Given the description of an element on the screen output the (x, y) to click on. 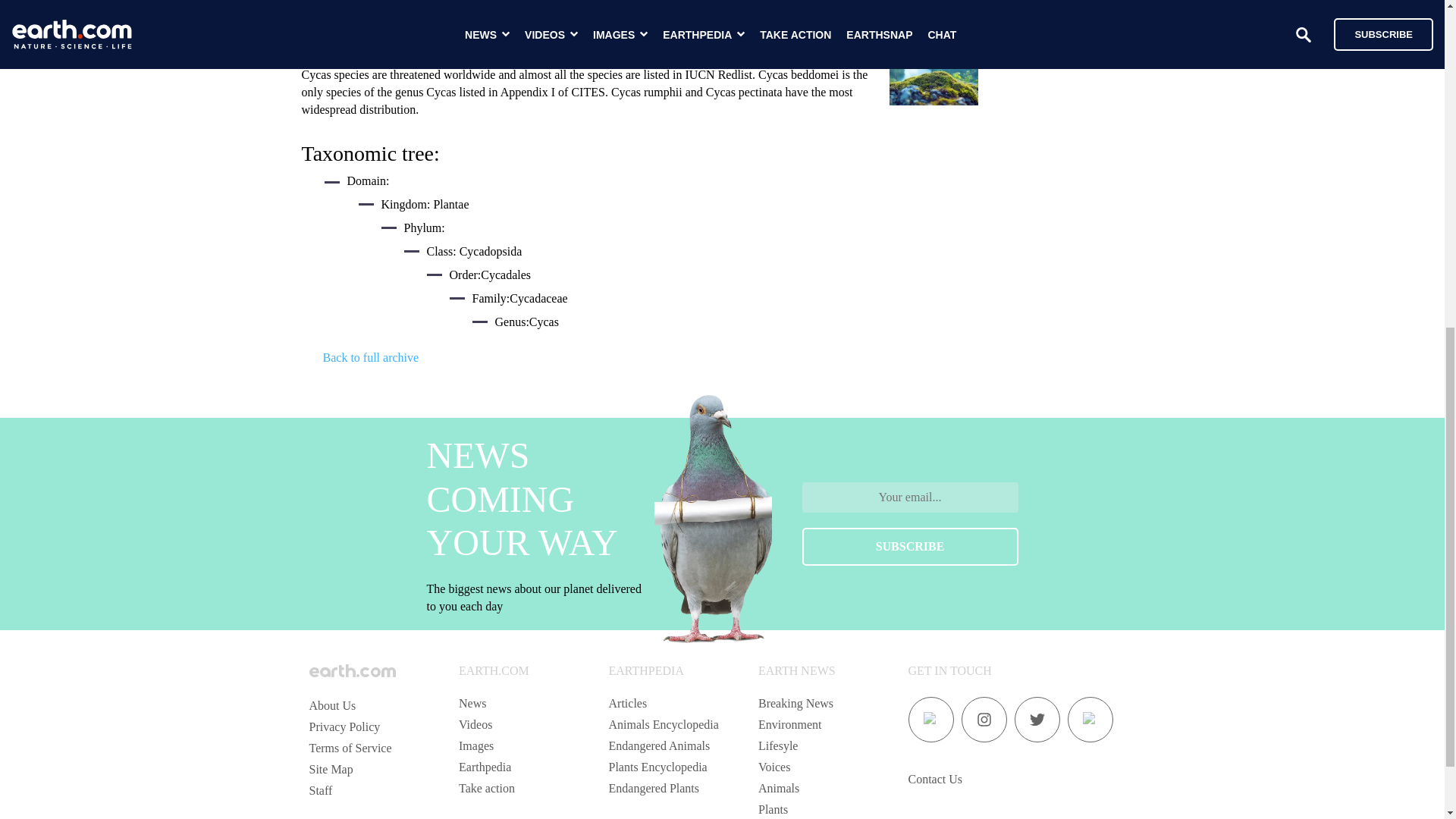
Animals Encyclopedia (662, 724)
Back to full archive (371, 363)
Staff (320, 789)
Terms of Service (349, 748)
Privacy Policy (344, 726)
SUBSCRIBE (909, 546)
Take action (486, 788)
Endangered Animals (659, 745)
Site Map (330, 768)
Plants Encyclopedia (657, 766)
Planting trees is important, but reforestation can help, too (1070, 51)
Articles (627, 703)
News (472, 703)
Earthpedia (484, 766)
About Us (332, 705)
